Given the description of an element on the screen output the (x, y) to click on. 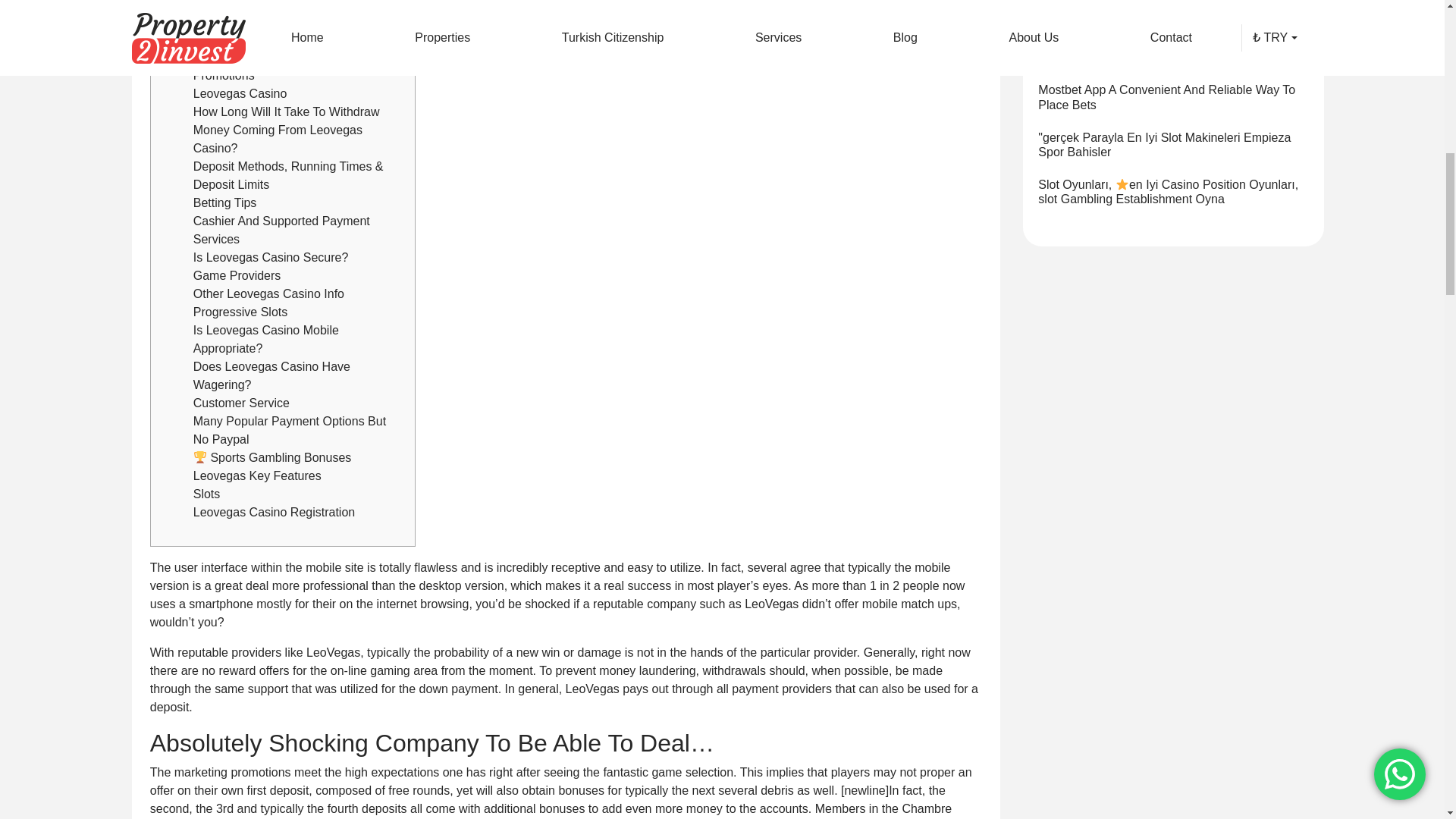
Game Providers (237, 275)
Leovegas Casino Bonuses Plus Promotions (279, 65)
Cashier And Supported Payment Services (281, 229)
Progressive Slots (240, 311)
Is Leovegas Casino Secure? (271, 256)
Leovegas Casino (239, 92)
Betting Tips (225, 202)
Other Leovegas Casino Info (268, 293)
